Given the description of an element on the screen output the (x, y) to click on. 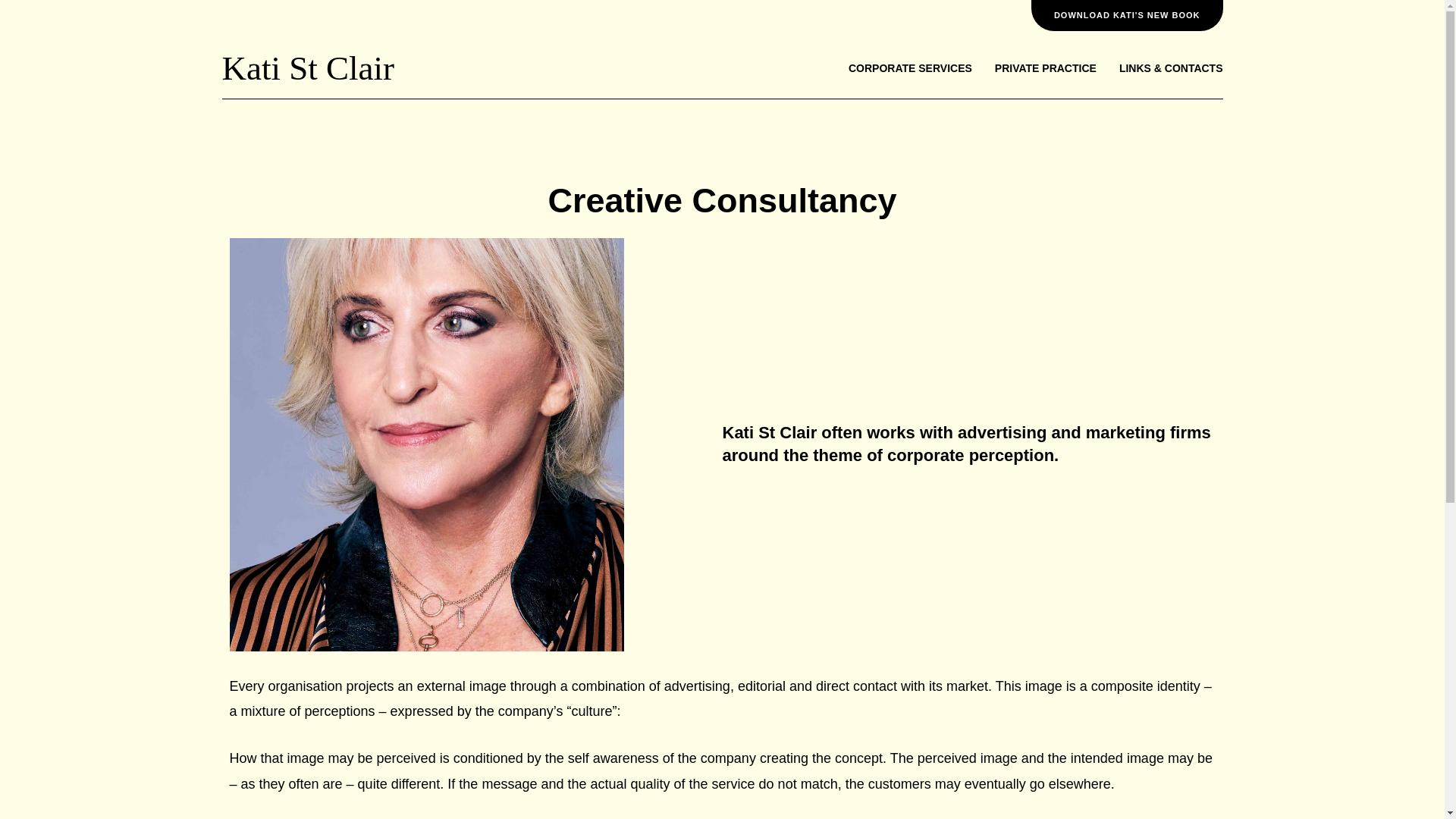
Kati St Clair (307, 67)
CORPORATE SERVICES (910, 68)
DOWNLOAD KATI'S NEW BOOK (1126, 15)
PRIVATE PRACTICE (1045, 68)
